Given the description of an element on the screen output the (x, y) to click on. 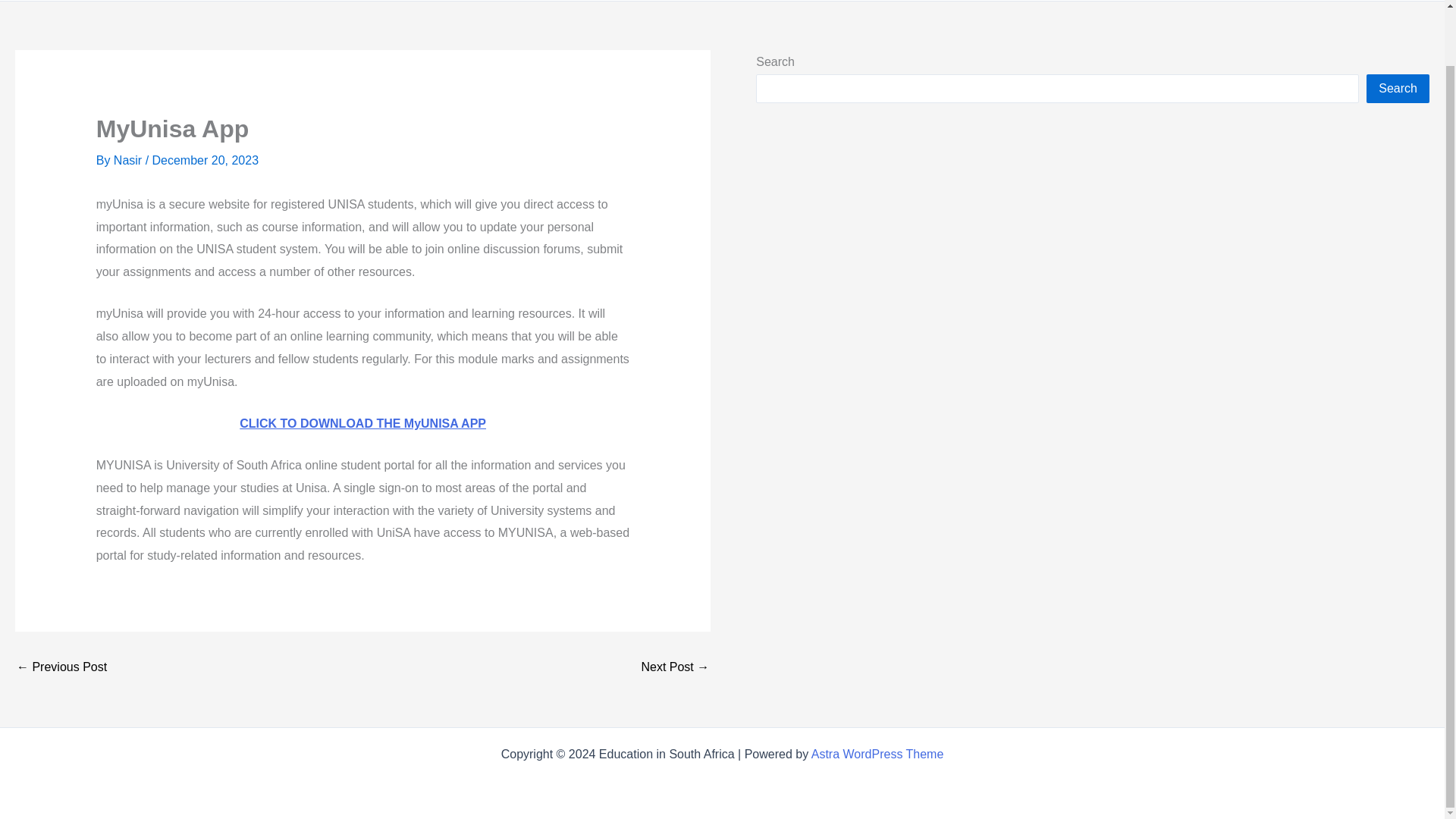
University of KwaZulu-Natal Prospectus 2024 (61, 666)
Advertisement (869, 364)
MyUnisa Updates (674, 666)
Home (806, 0)
View all posts by Nasir (129, 160)
